Given the description of an element on the screen output the (x, y) to click on. 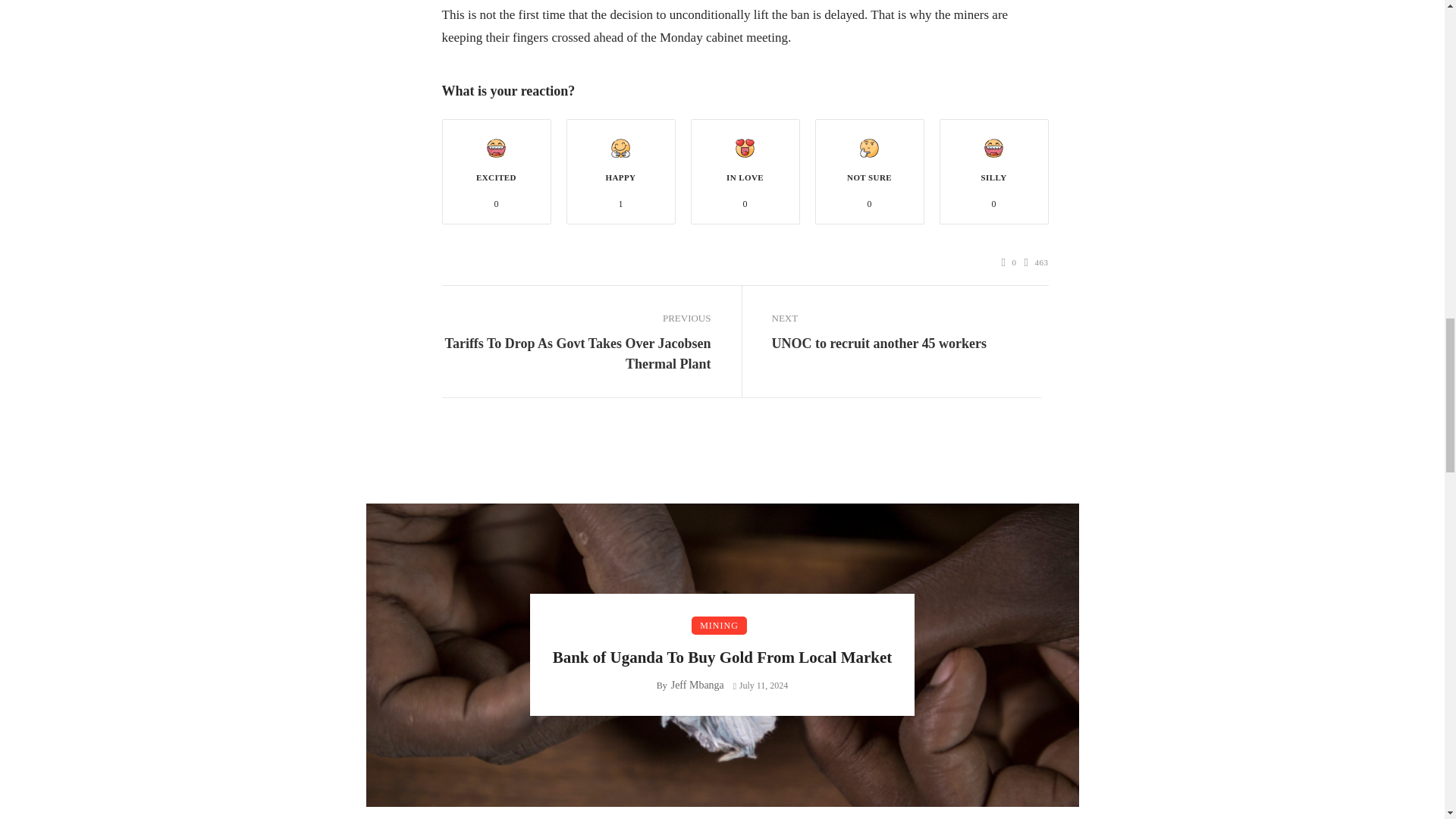
0 (1008, 262)
PREVIOUS (575, 318)
Bank of Uganda To Buy Gold From Local Market (722, 658)
463 Views (1036, 262)
July 11, 2024 at 11:20 pm (760, 685)
UNOC to recruit another 45 workers (879, 343)
MINING (718, 625)
NEXT (906, 318)
0 Comments (1008, 262)
Tariffs To Drop As Govt Takes Over Jacobsen Thermal Plant (575, 353)
